Given the description of an element on the screen output the (x, y) to click on. 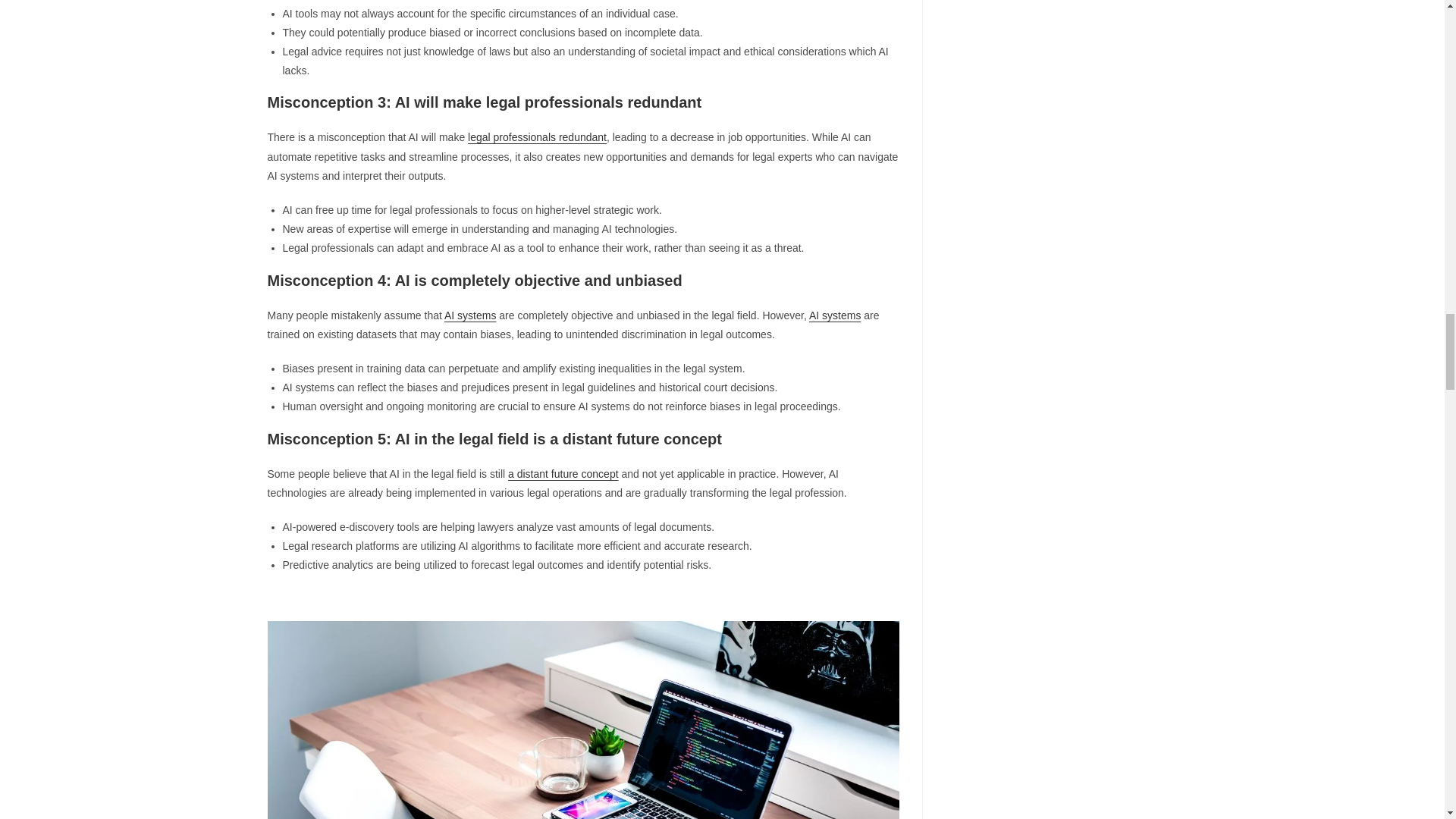
AI systems (834, 315)
a distant future concept (563, 473)
Artificial Intelligence Legal. (582, 719)
legal professionals redundant (537, 137)
AI systems (470, 315)
